Given the description of an element on the screen output the (x, y) to click on. 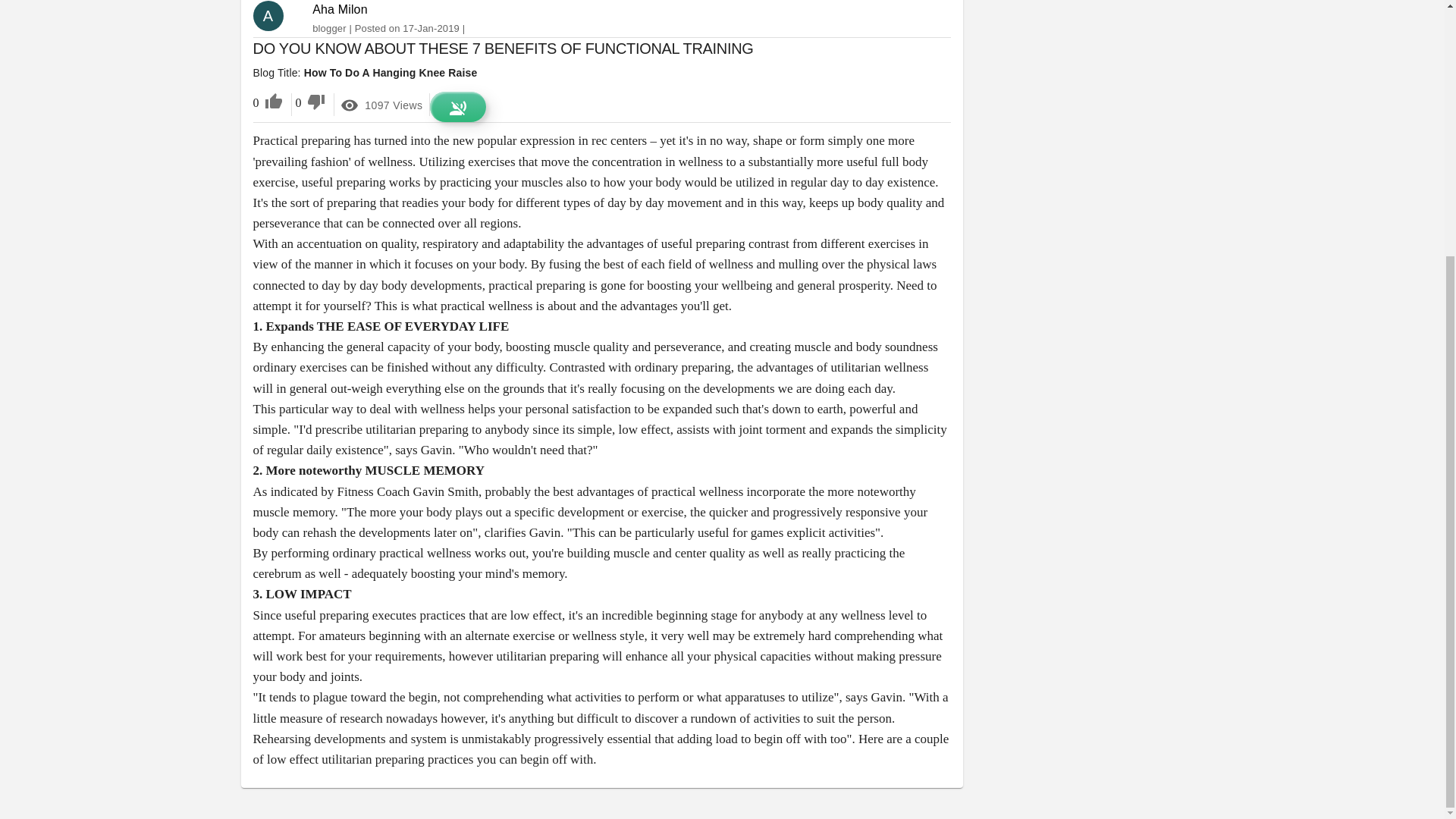
A (274, 15)
  1097 Views (380, 104)
Aha Milon (340, 9)
